Given the description of an element on the screen output the (x, y) to click on. 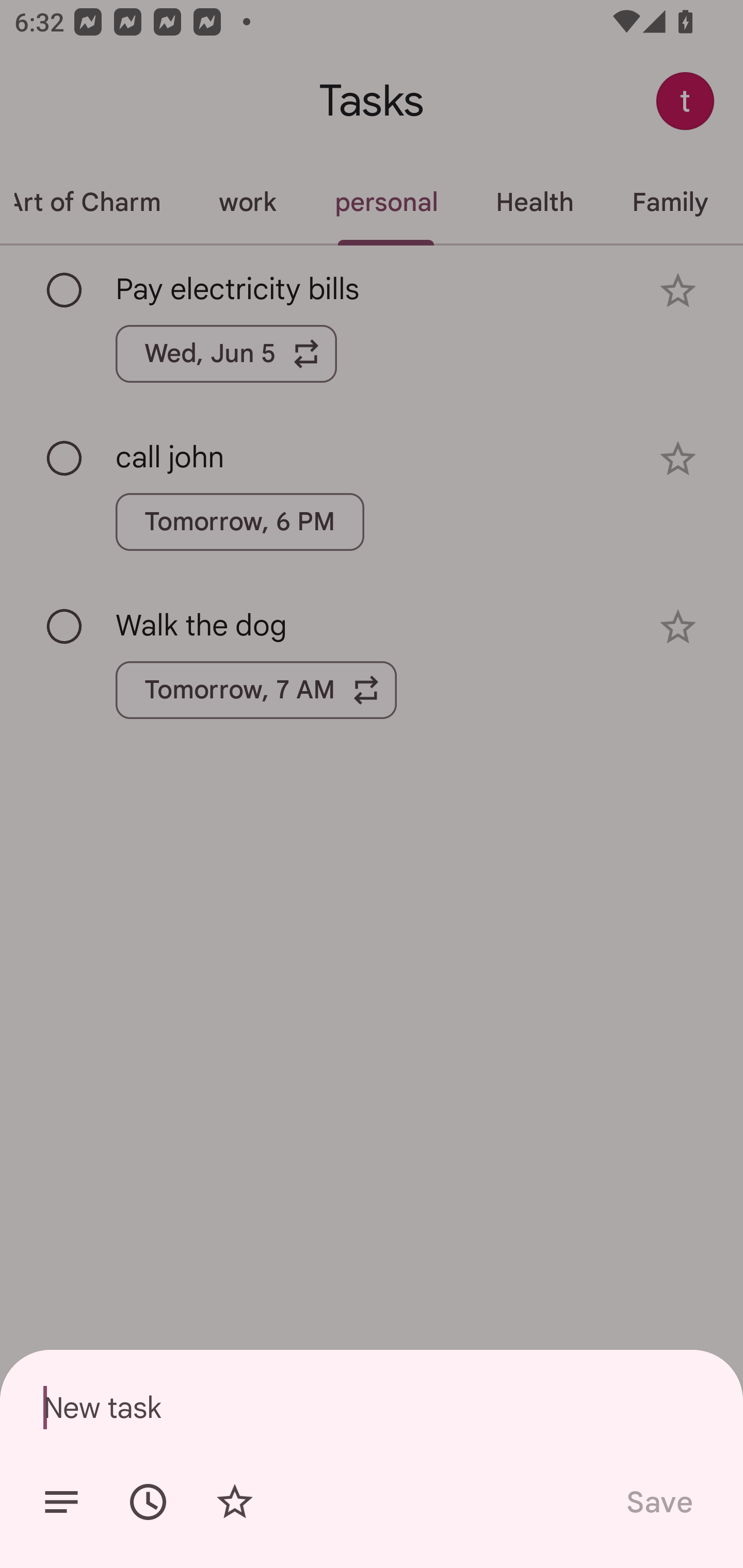
New task (371, 1407)
Save (659, 1501)
Add details (60, 1501)
Set date/time (147, 1501)
Add star (234, 1501)
